Given the description of an element on the screen output the (x, y) to click on. 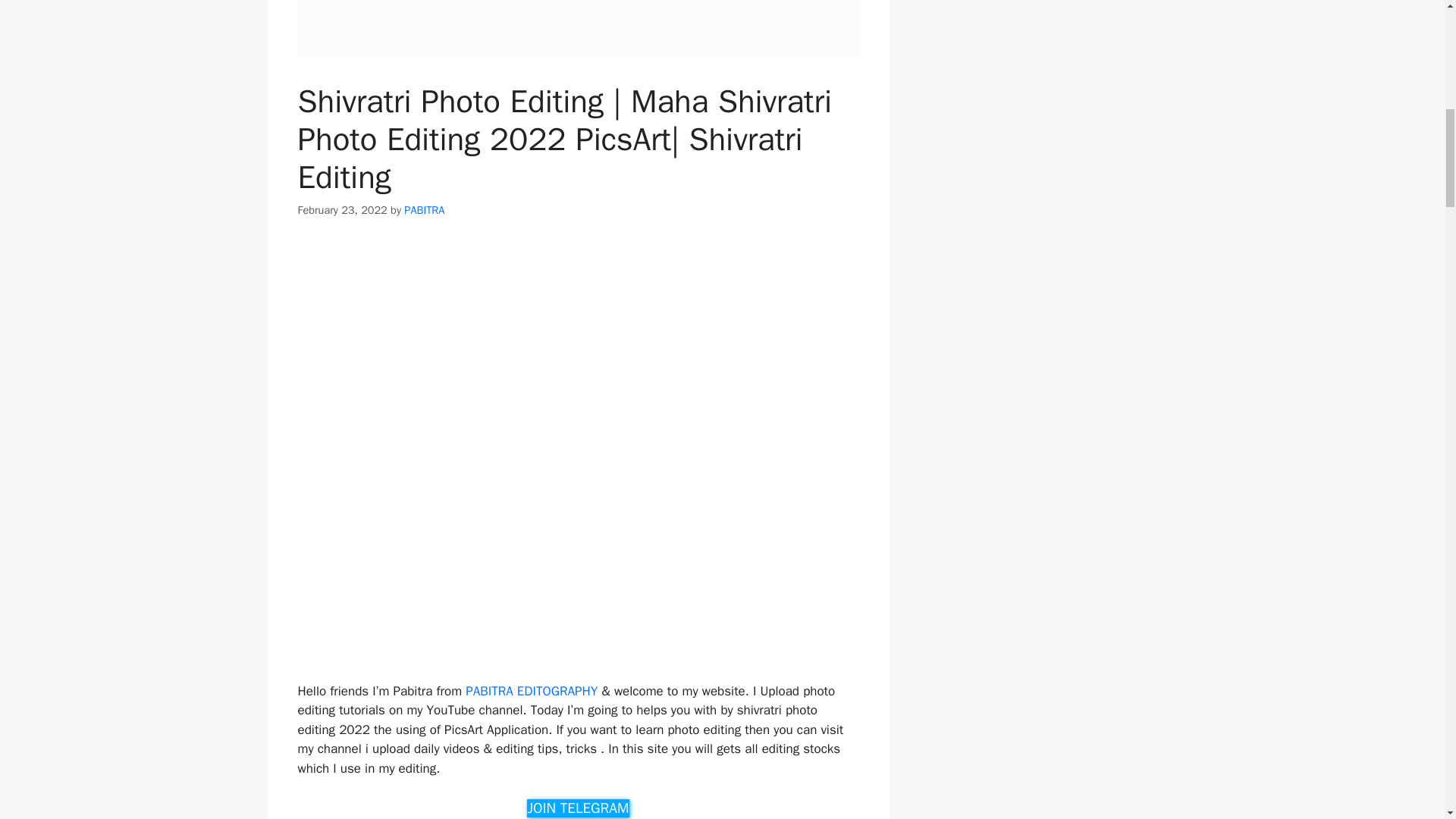
View all posts by PABITRA (424, 210)
Advertisement (578, 569)
JOIN TELEGRAM (577, 808)
PABITRA (424, 210)
Advertisement (578, 350)
PABITRA EDITOGRAPHY (530, 691)
